Given the description of an element on the screen output the (x, y) to click on. 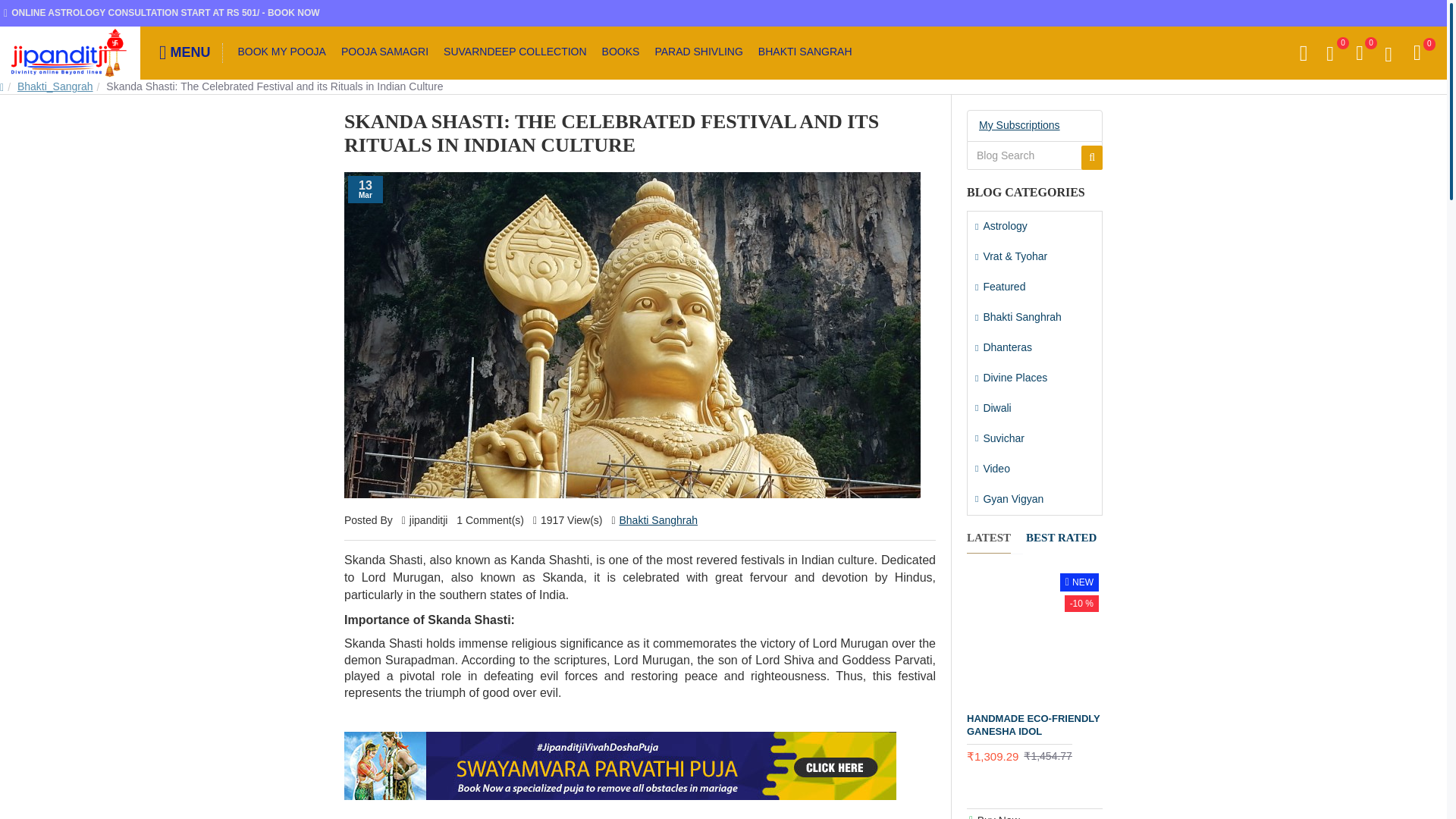
MENU (191, 53)
Marriage Pooja (619, 766)
JiPanditJI.com (69, 52)
